Given the description of an element on the screen output the (x, y) to click on. 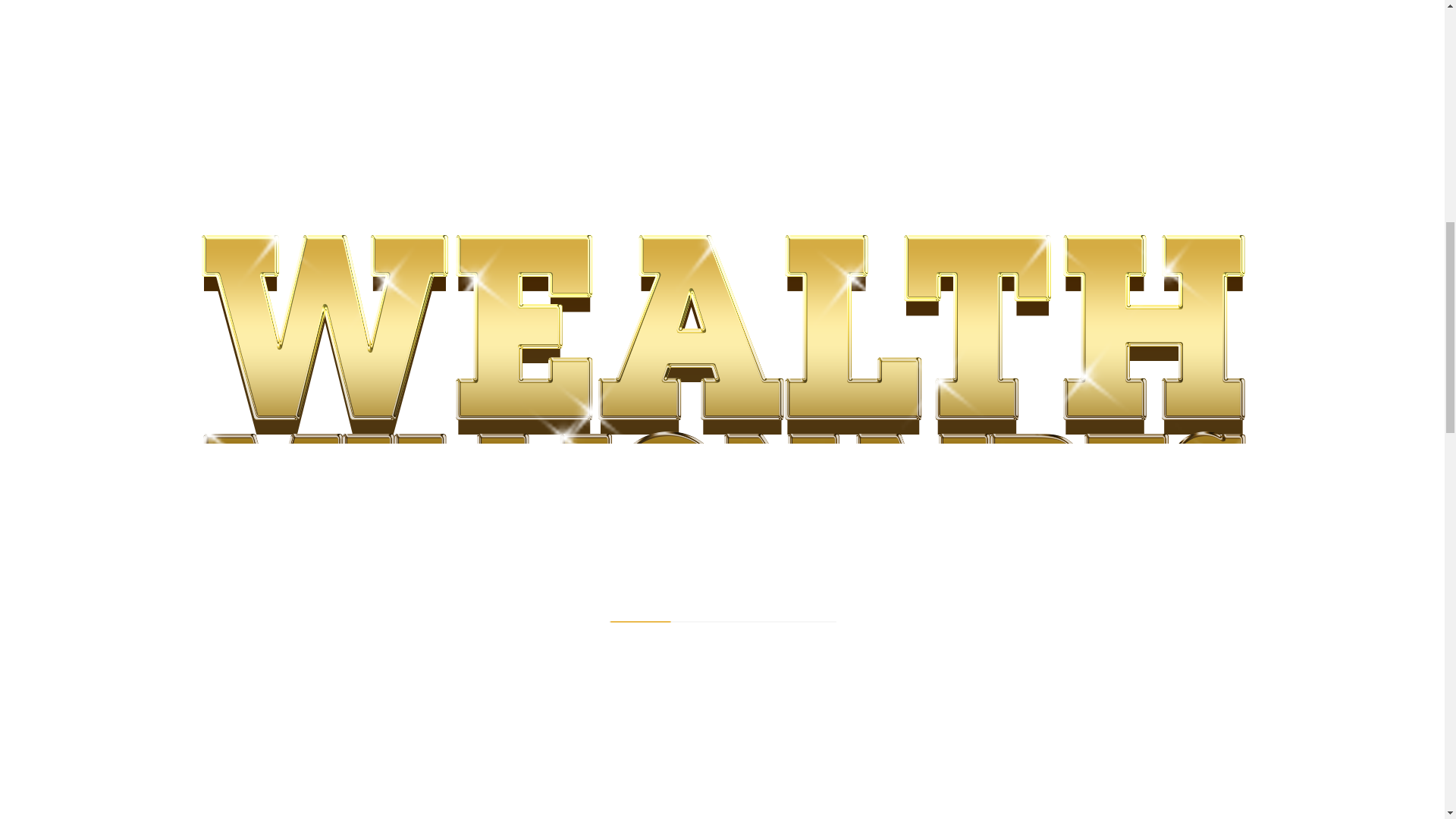
2 years ago (710, 713)
2 years ago (430, 713)
2 years ago (430, 815)
2 years ago (710, 624)
3 months ago (434, 624)
Miss Teen USA gives up title days after Miss USA resigned (472, 599)
